Given the description of an element on the screen output the (x, y) to click on. 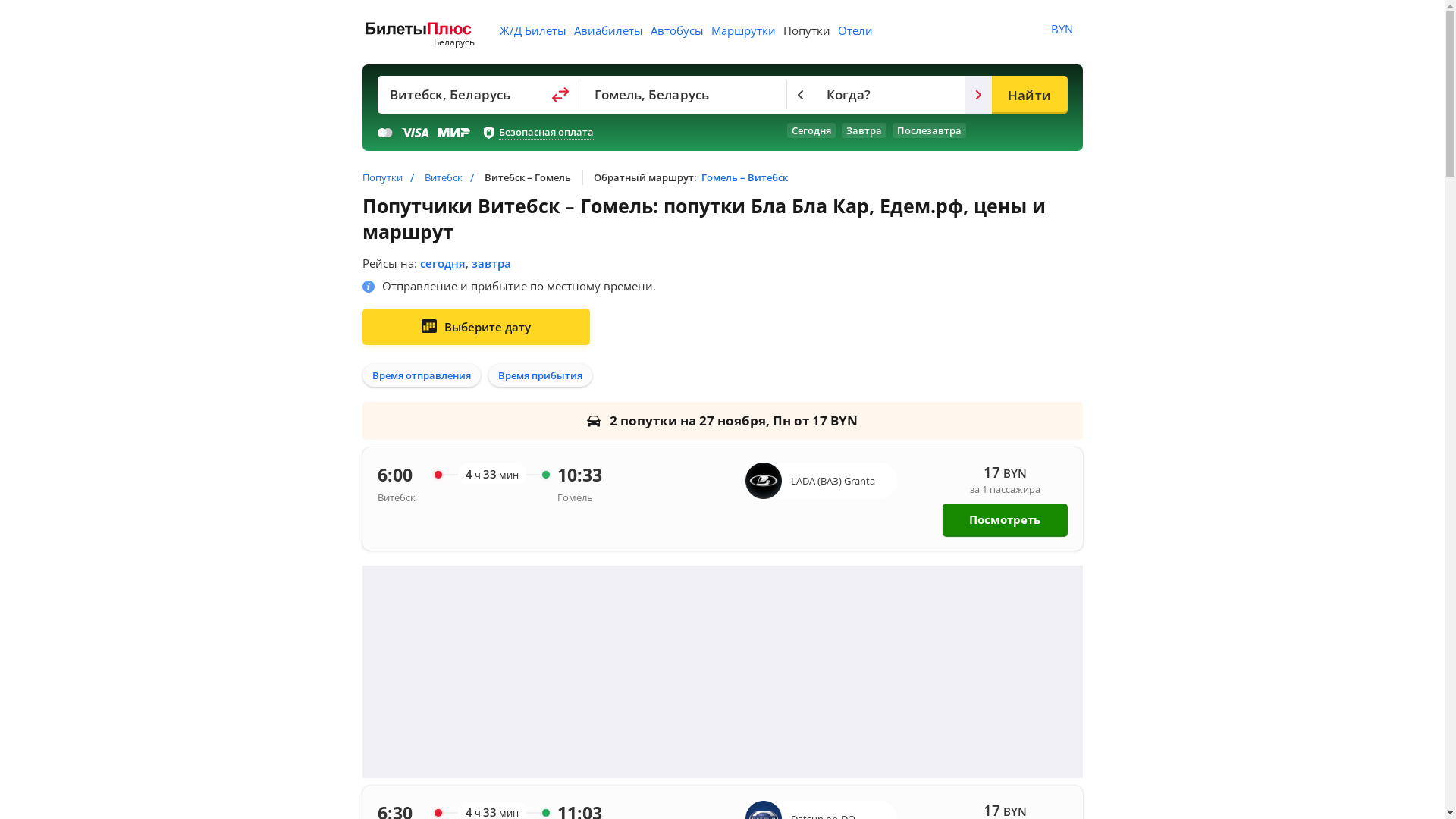
Advertisement Element type: hover (722, 671)
